Given the description of an element on the screen output the (x, y) to click on. 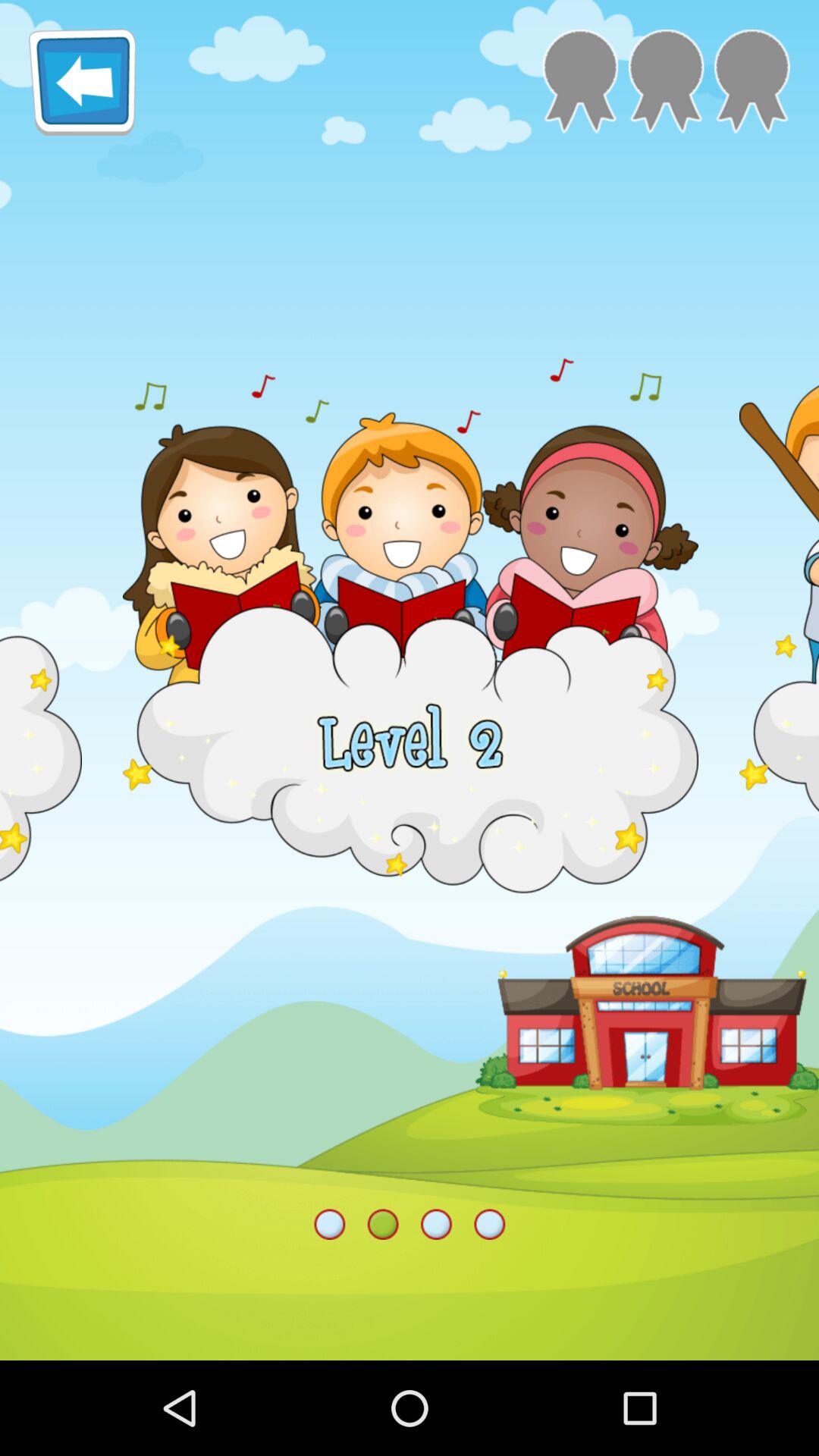
give award (751, 81)
